Given the description of an element on the screen output the (x, y) to click on. 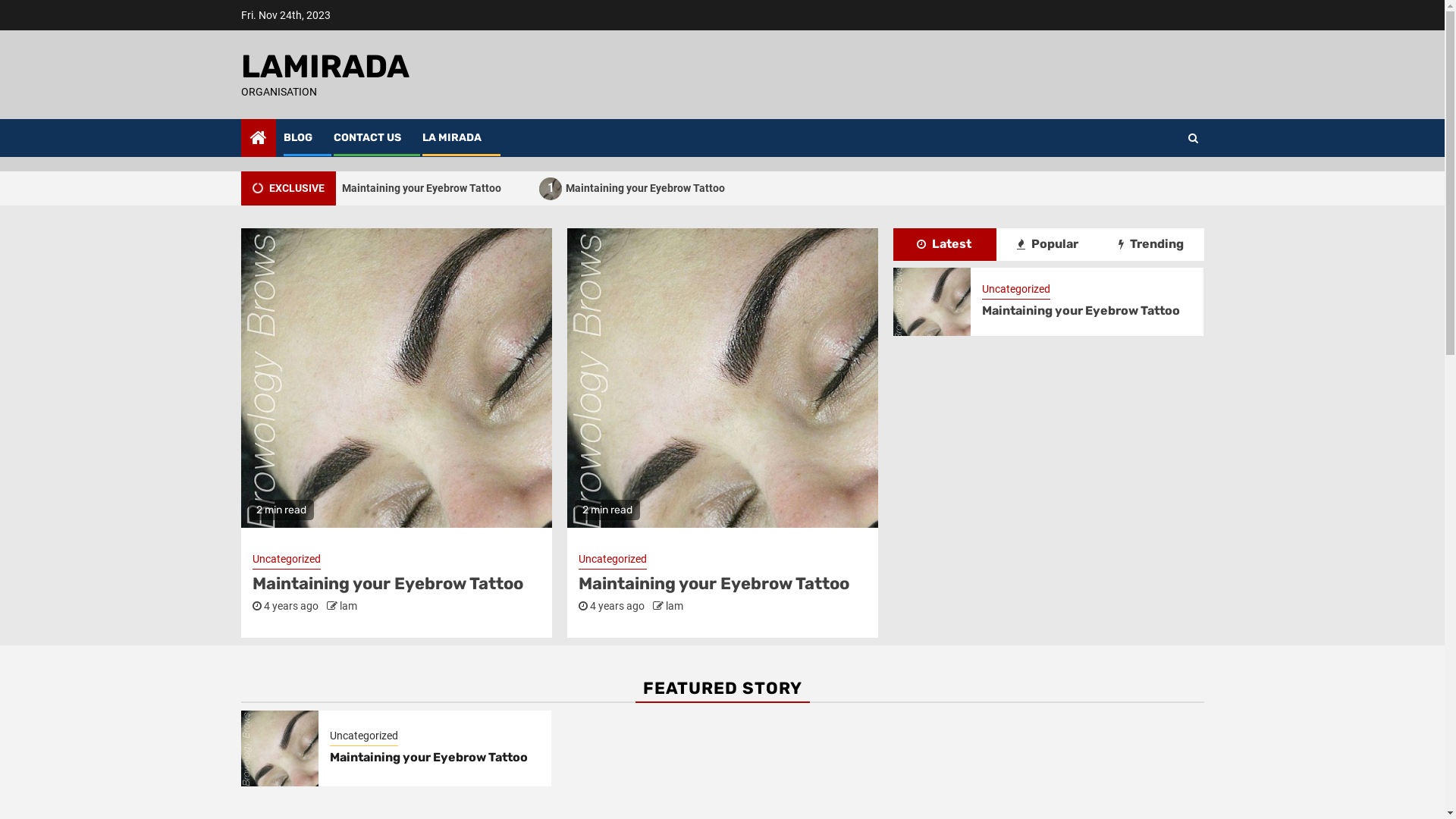
Uncategorized Element type: text (285, 560)
lam Element type: text (674, 605)
Maintaining your Eyebrow Tattoo Element type: text (1080, 310)
Uncategorized Element type: text (363, 737)
Latest Element type: text (943, 244)
Trending Element type: text (1151, 244)
BLOG Element type: text (297, 137)
Uncategorized Element type: text (1016, 290)
Uncategorized Element type: text (611, 560)
Maintaining your Eyebrow Tattoo Element type: text (712, 583)
LA MIRADA Element type: text (450, 137)
lam Element type: text (348, 605)
Search Element type: hover (1192, 137)
Maintaining your Eyebrow Tattoo Element type: text (386, 583)
1
Maintaining your Eyebrow Tattoo Element type: text (637, 188)
LAMIRADA Element type: text (325, 66)
1
Maintaining your Eyebrow Tattoo Element type: text (415, 188)
Search Element type: text (1163, 183)
CONTACT US Element type: text (367, 137)
Popular Element type: text (1047, 244)
Maintaining your Eyebrow Tattoo Element type: text (428, 756)
